Given the description of an element on the screen output the (x, y) to click on. 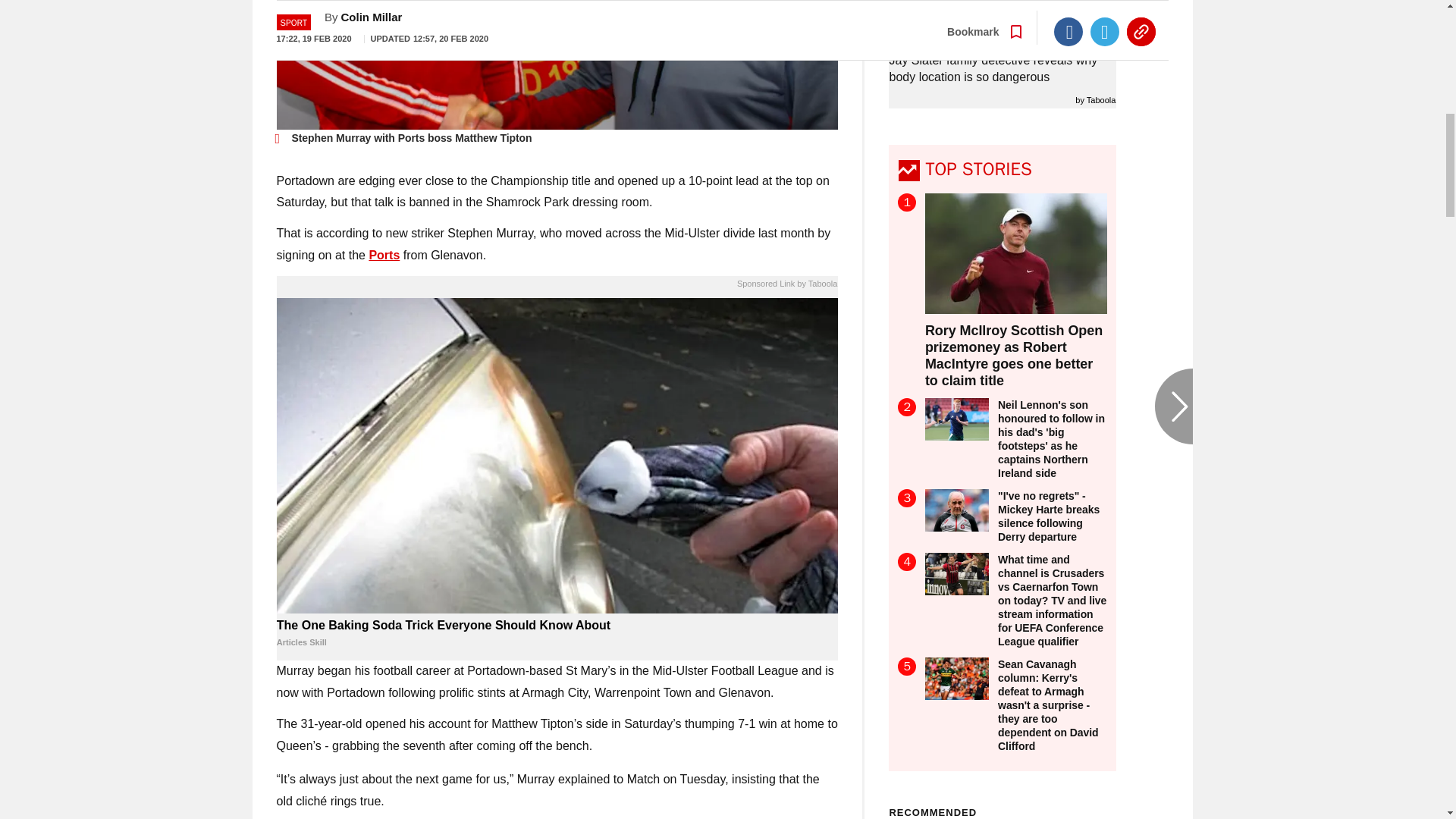
The One Baking Soda Trick Everyone Should Know About (557, 633)
